Given the description of an element on the screen output the (x, y) to click on. 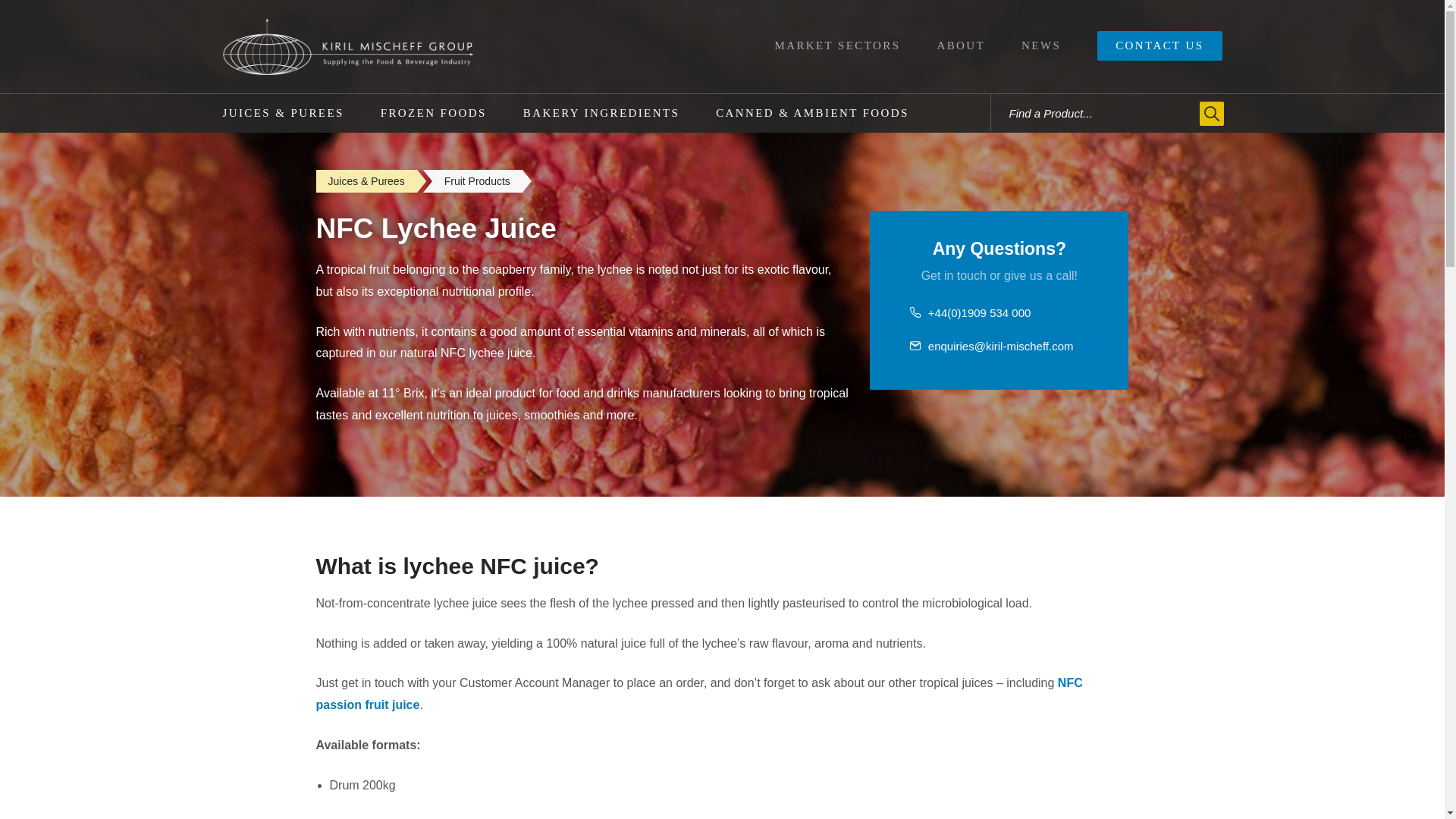
Fruit Products (477, 180)
NEWS (1040, 45)
BAKERY INGREDIENTS (601, 113)
CONTACT US (1159, 45)
ABOUT (960, 45)
NFC passion fruit juice (698, 693)
FROZEN FOODS (433, 113)
MARKET SECTORS (836, 45)
